Given the description of an element on the screen output the (x, y) to click on. 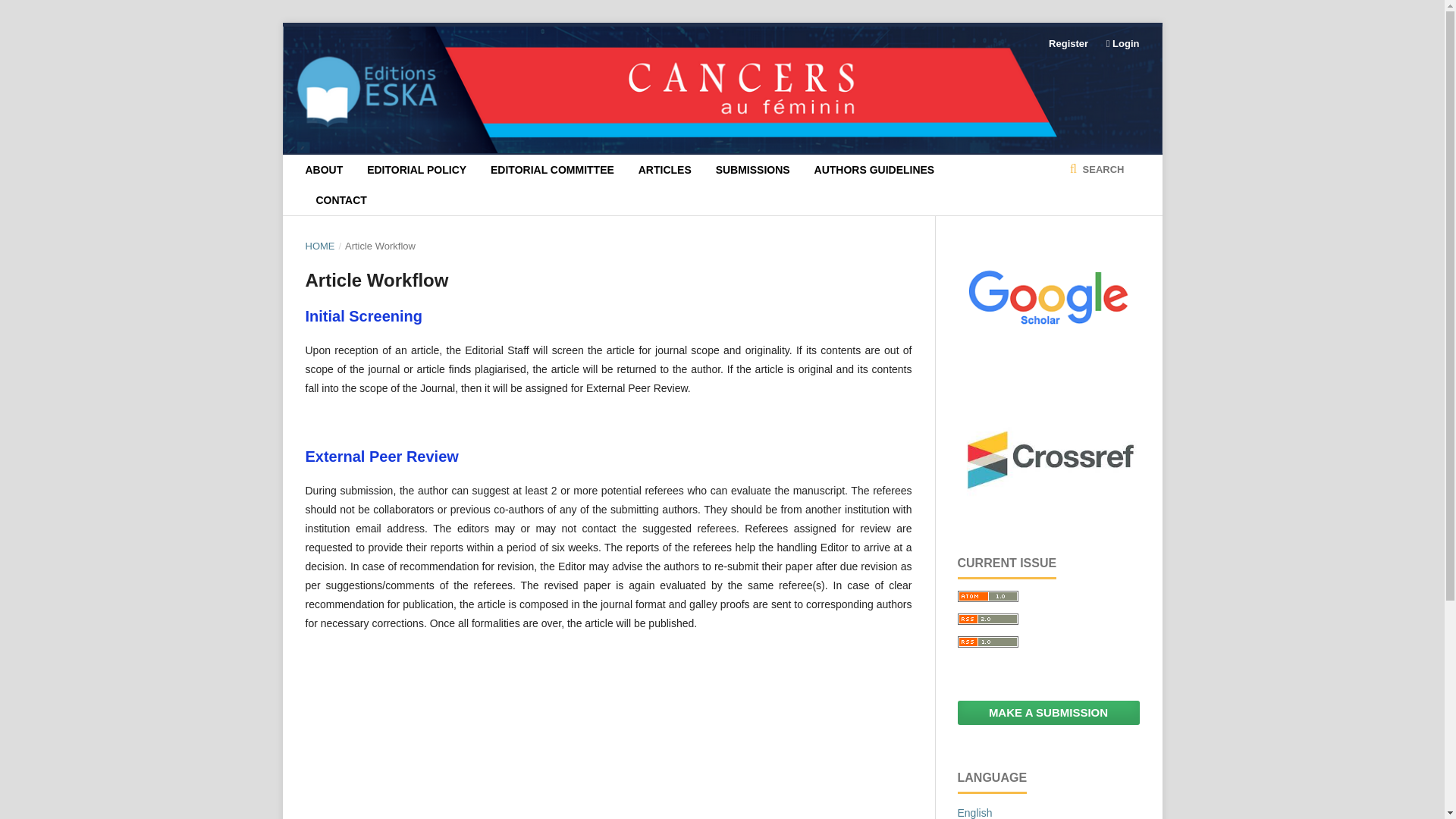
CONTACT (340, 200)
MAKE A SUBMISSION (1047, 712)
SUBMISSIONS (753, 169)
EDITORIAL POLICY (415, 169)
ABOUT (323, 169)
Login (1119, 43)
EDITORIAL COMMITTEE (552, 169)
English (973, 812)
Register (1068, 43)
HOME (319, 246)
ARTICLES (665, 169)
AUTHORS GUIDELINES (873, 169)
SEARCH (1096, 169)
